Given the description of an element on the screen output the (x, y) to click on. 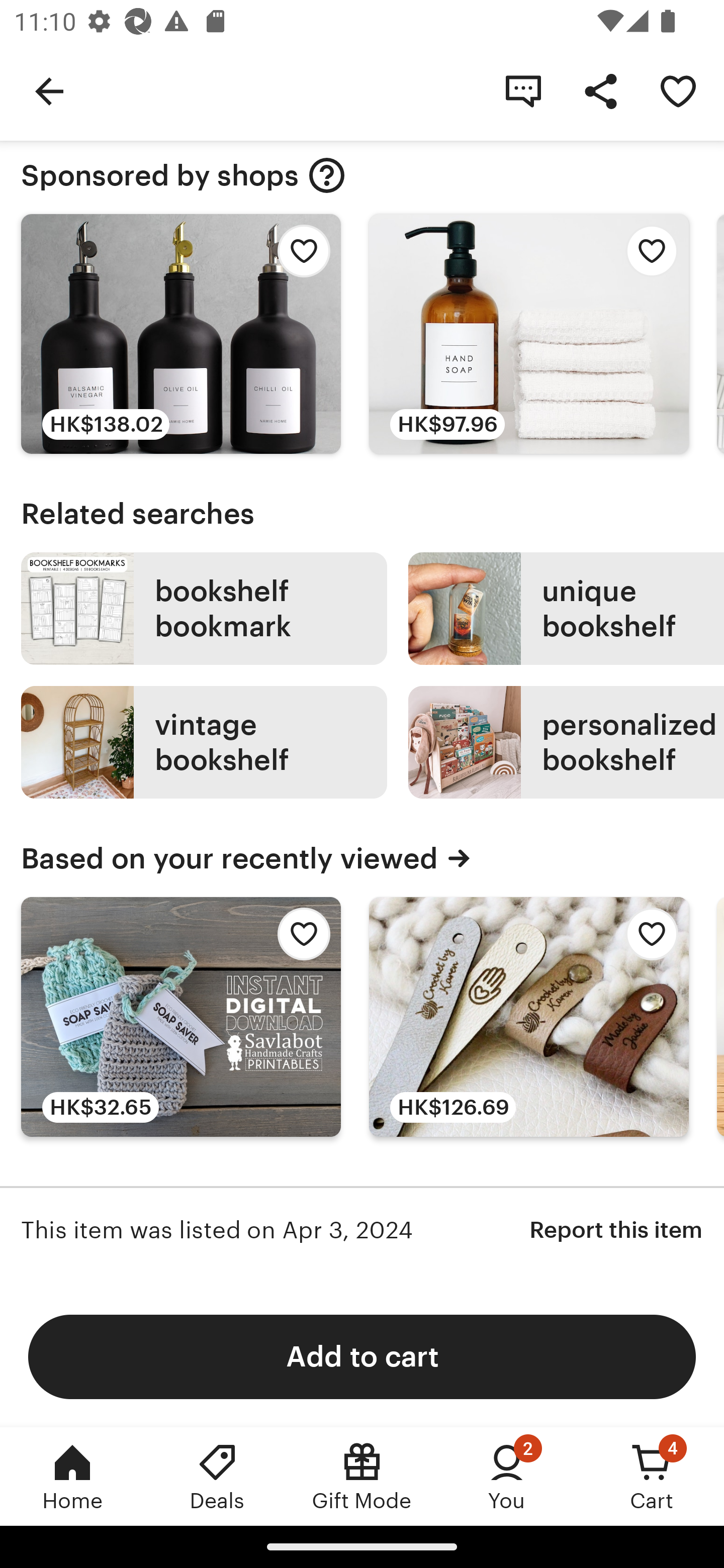
Navigate up (49, 90)
Contact shop (523, 90)
Share (600, 90)
Sponsored by shops Sponsored by shops About (362, 175)
bookshelf bookmark (203, 607)
unique bookshelf (566, 607)
vintage bookshelf (203, 742)
personalized bookshelf (566, 742)
Based on your recently viewed  (362, 858)
Report this item (616, 1230)
Add to cart (361, 1355)
Deals (216, 1475)
Gift Mode (361, 1475)
You, 2 new notifications You (506, 1475)
Cart, 4 new notifications Cart (651, 1475)
